Given the description of an element on the screen output the (x, y) to click on. 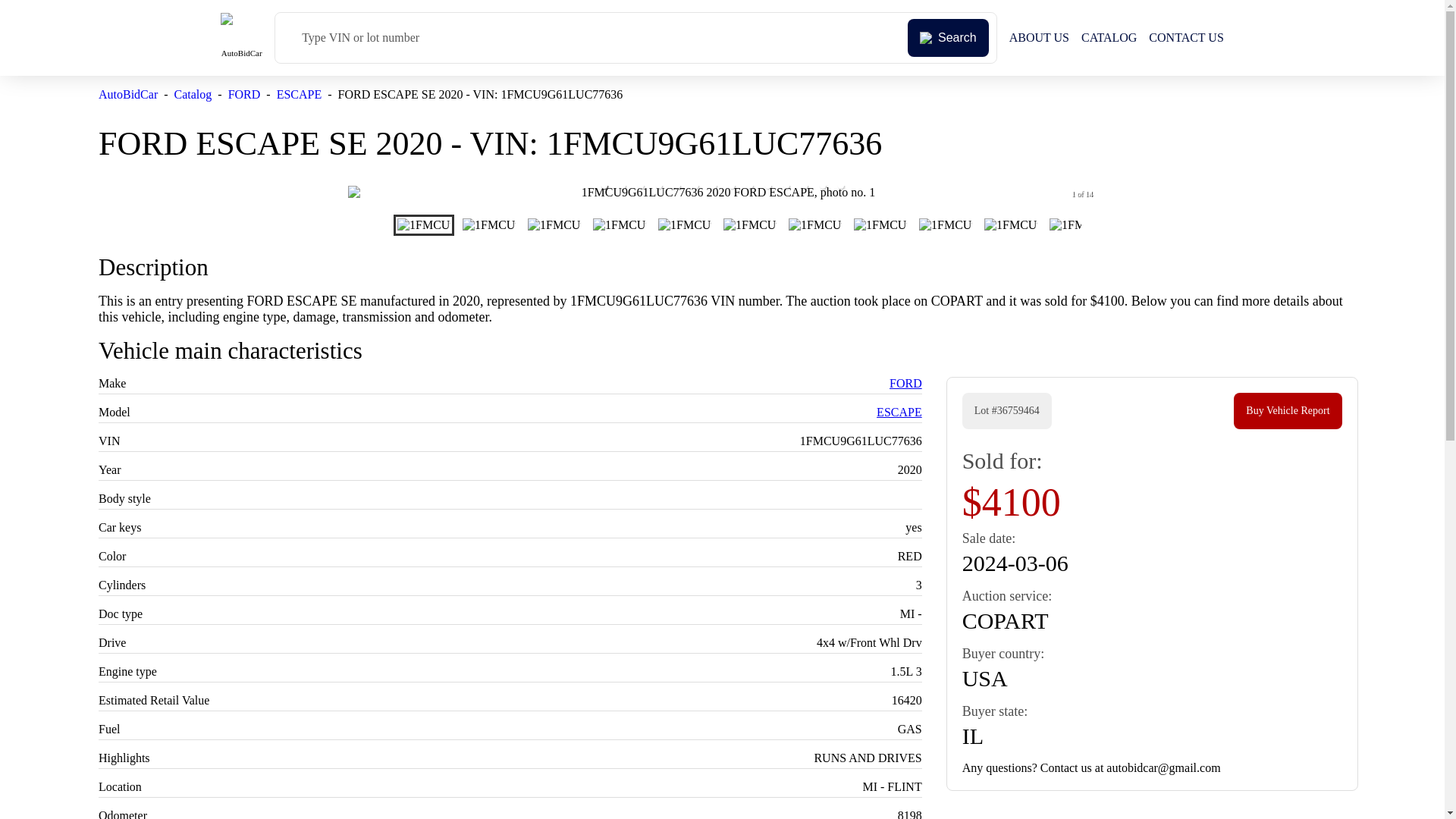
CATALOG (1109, 38)
Search (947, 37)
ESCAPE (898, 411)
FORD (905, 382)
Buy Vehicle Report (1286, 411)
FORD (244, 93)
ABOUT US (1038, 38)
ESCAPE (298, 93)
Catalog (193, 93)
AutoBidCar (128, 93)
CONTACT US (1185, 38)
